Given the description of an element on the screen output the (x, y) to click on. 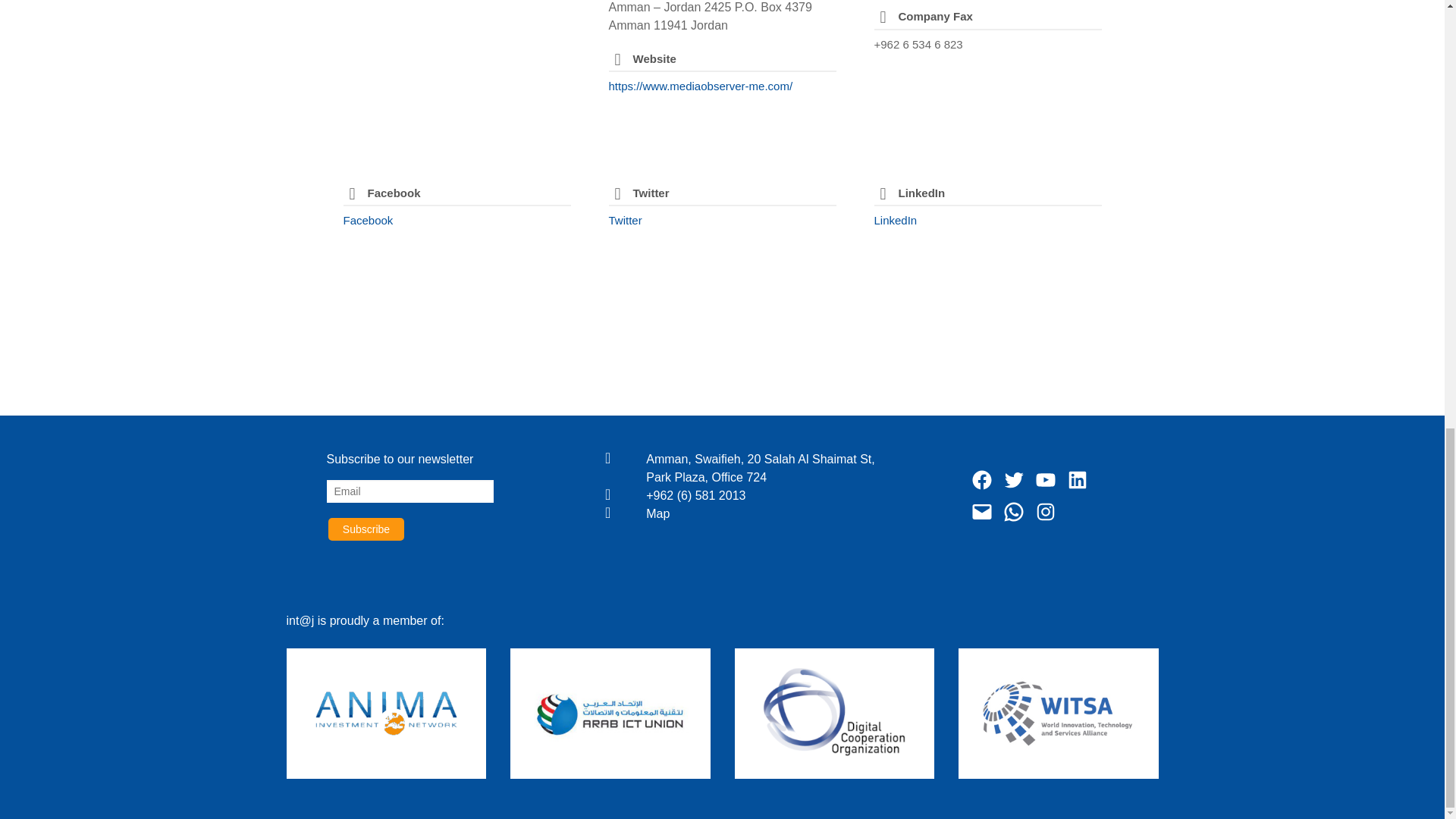
Facebook (367, 219)
Subscribe (366, 528)
LinkedIn (895, 219)
Map (769, 514)
LinkedIn (895, 219)
Facebook (367, 219)
Twitter (625, 219)
Twitter (625, 219)
